Given the description of an element on the screen output the (x, y) to click on. 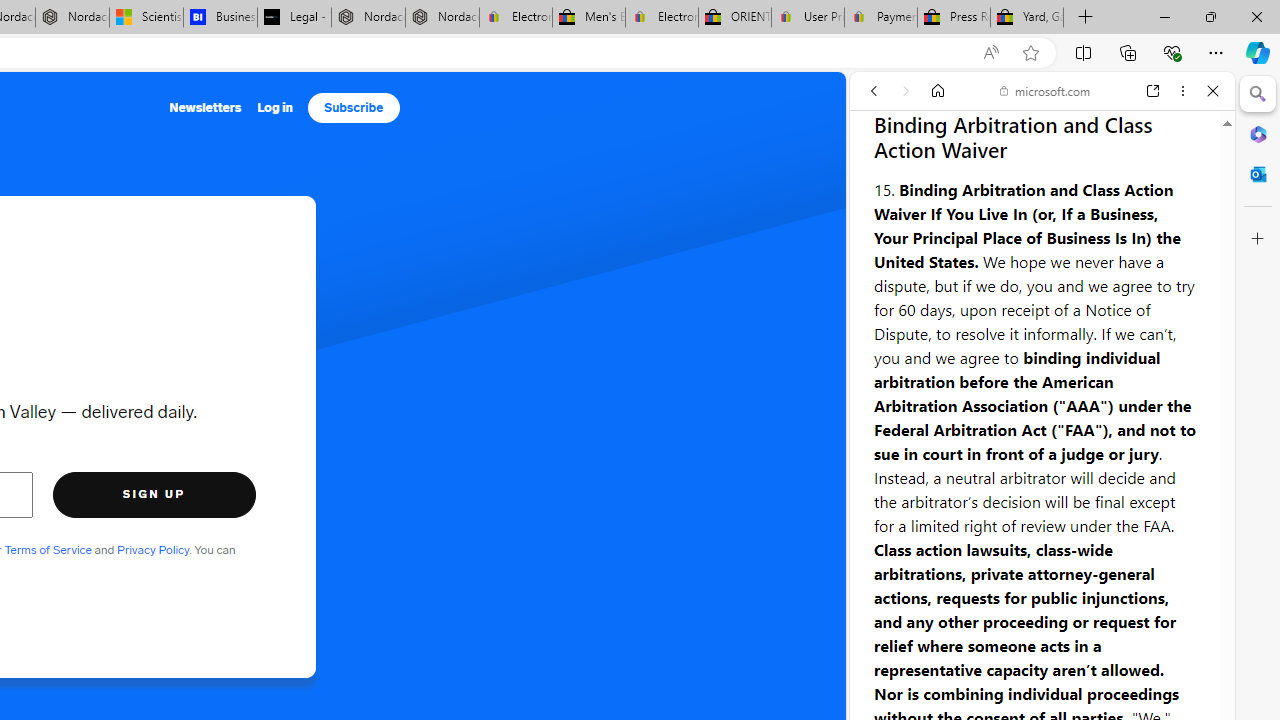
Newsletters (204, 107)
